Given the description of an element on the screen output the (x, y) to click on. 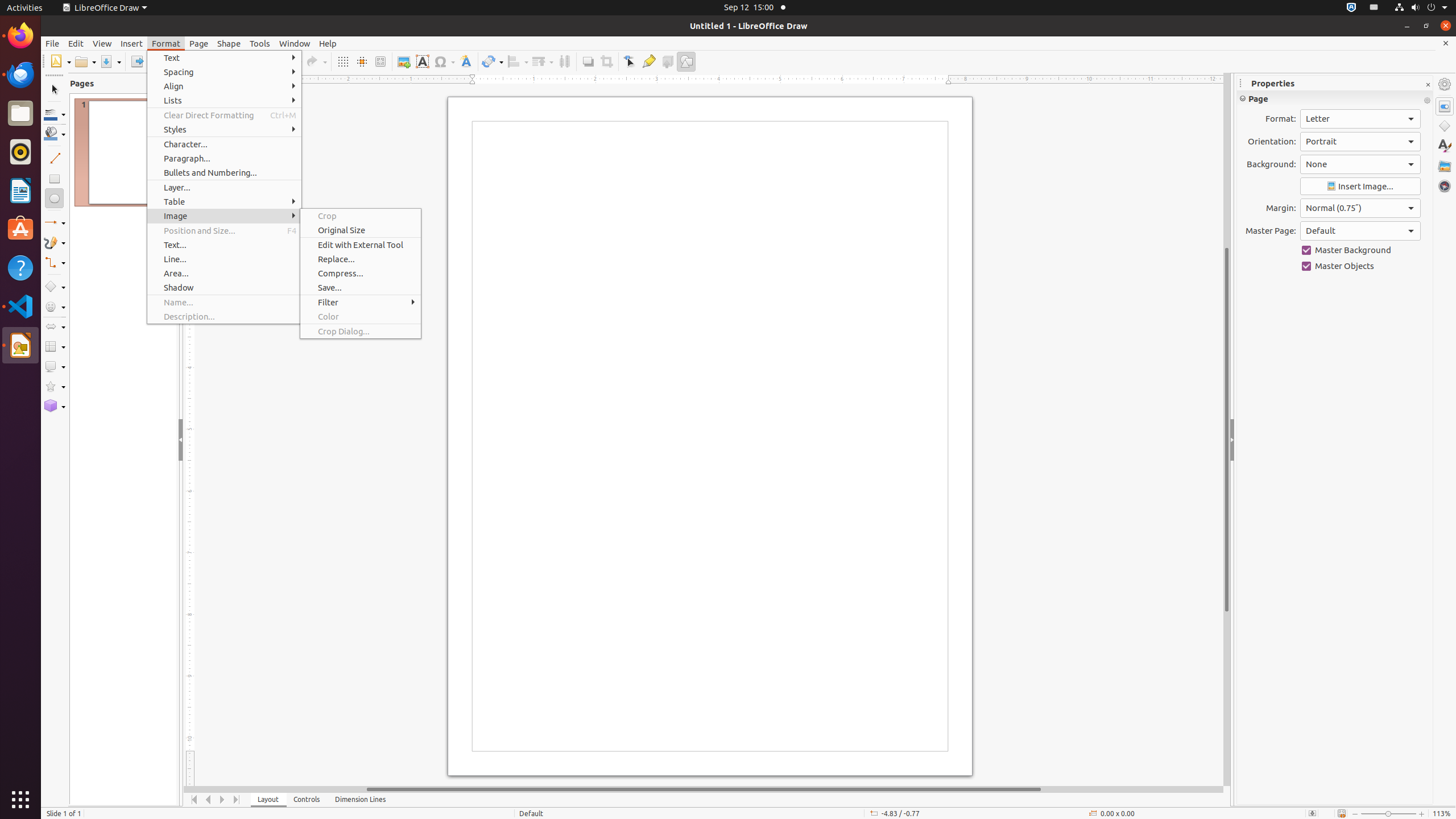
Lists Element type: menu (224, 100)
Move Left Element type: push-button (208, 799)
Area... Element type: menu-item (224, 273)
Text... Element type: menu-item (224, 244)
